Given the description of an element on the screen output the (x, y) to click on. 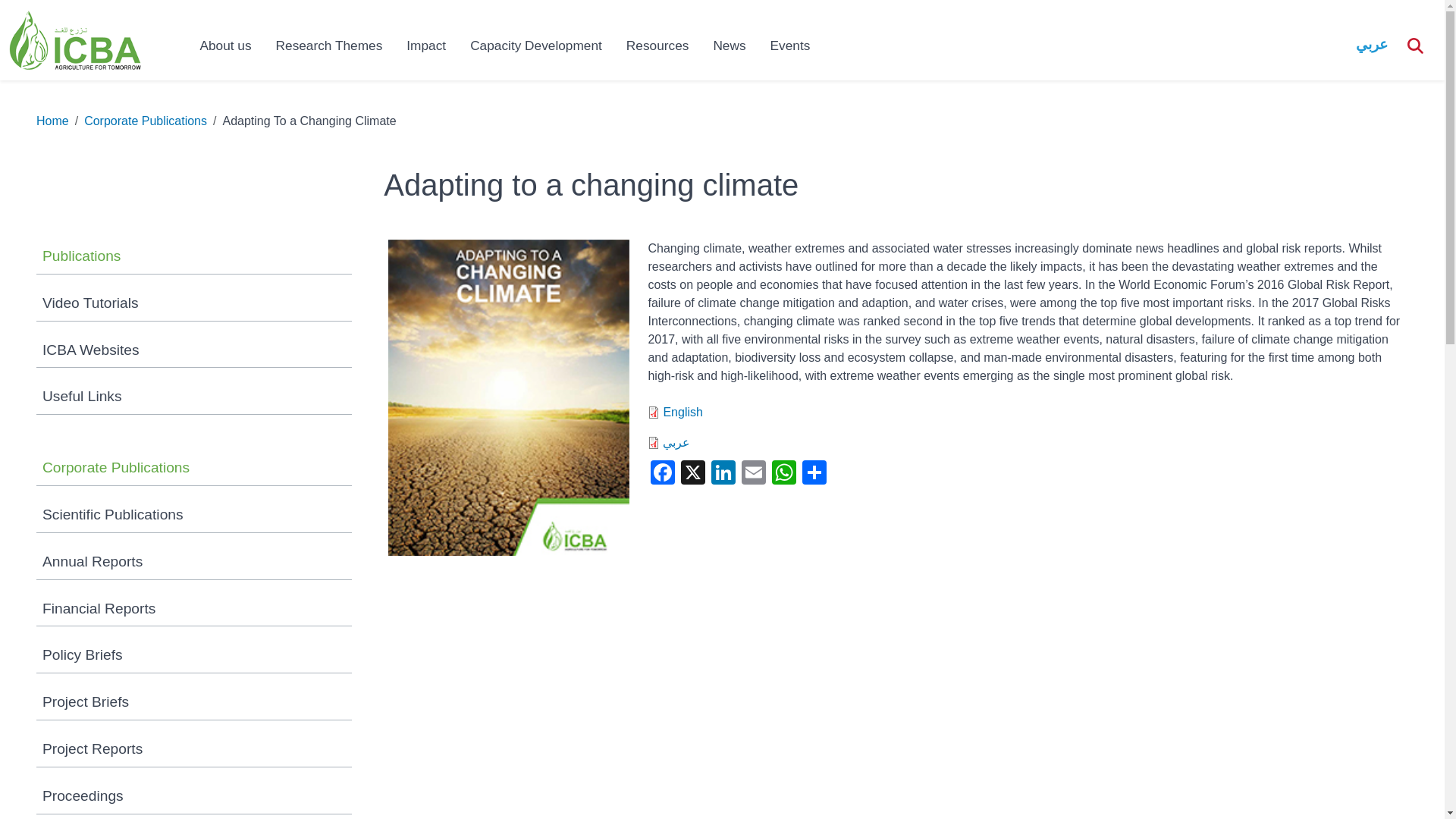
Home (74, 39)
Skip to main content (60, 83)
